Given the description of an element on the screen output the (x, y) to click on. 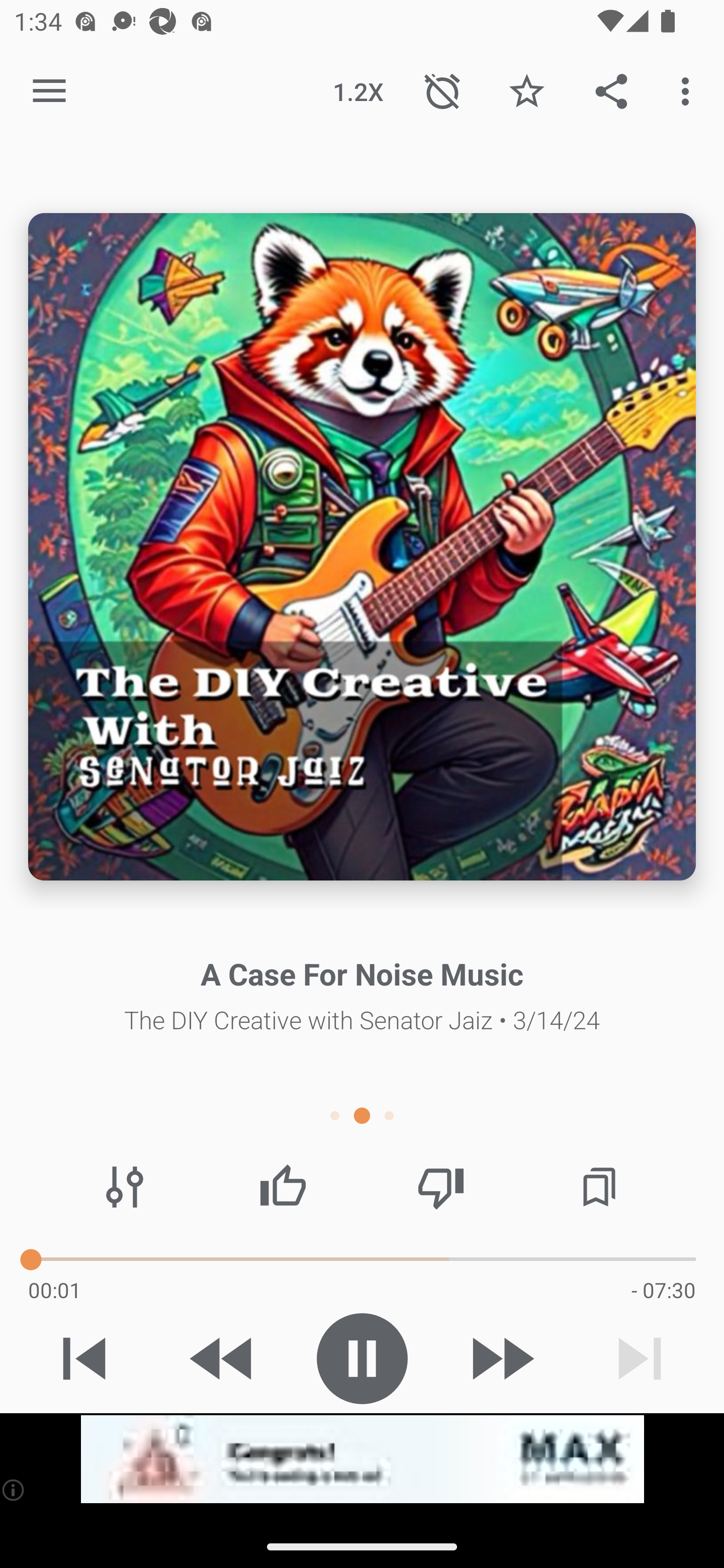
Open navigation sidebar (49, 91)
1.2X (357, 90)
Sleep Timer (442, 90)
Favorite (526, 90)
Share (611, 90)
More options (688, 90)
Episode description (361, 547)
Audio effects (124, 1186)
Thumbs up (283, 1186)
Thumbs down (440, 1186)
Chapters / Bookmarks (598, 1186)
- 07:30 (663, 1289)
Previous track (84, 1358)
Skip 15s backward (222, 1358)
Play / Pause (362, 1358)
Skip 30s forward (500, 1358)
Next track (639, 1358)
app-monetization (362, 1459)
(i) (14, 1489)
